Given the description of an element on the screen output the (x, y) to click on. 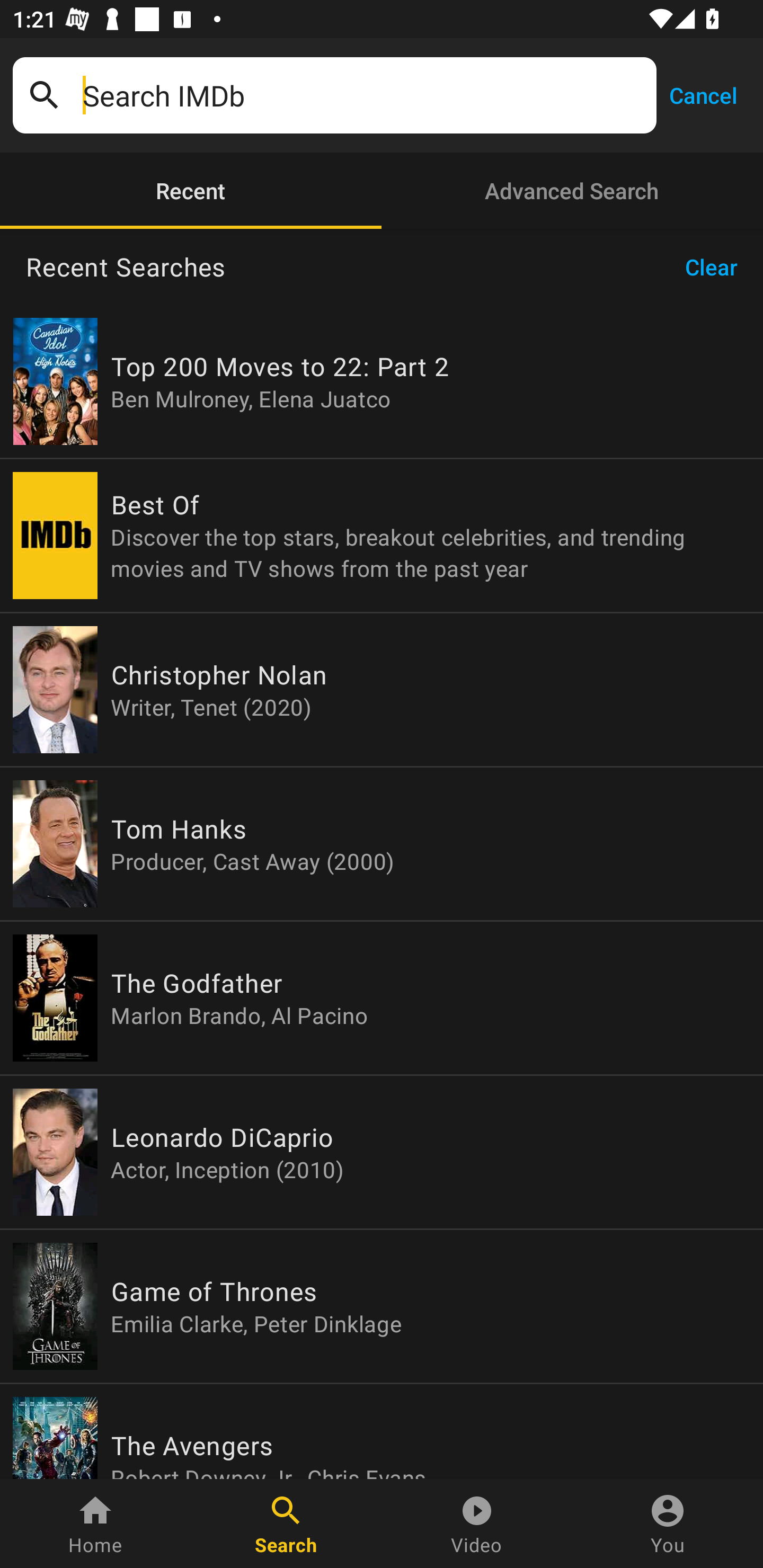
Cancel (703, 94)
Search IMDb (363, 95)
Advanced Search (572, 190)
Clear (717, 266)
Christopher Nolan Writer, Tenet (2020) (381, 689)
Tom Hanks Producer, Cast Away (2000) (381, 844)
The Godfather Marlon Brando, Al Pacino (381, 997)
Leonardo DiCaprio Actor, Inception (2010) (381, 1151)
Game of Thrones Emilia Clarke, Peter Dinklage (381, 1305)
The Avengers Robert Downey Jr., Chris Evans (381, 1431)
Home (95, 1523)
Video (476, 1523)
You (667, 1523)
